Given the description of an element on the screen output the (x, y) to click on. 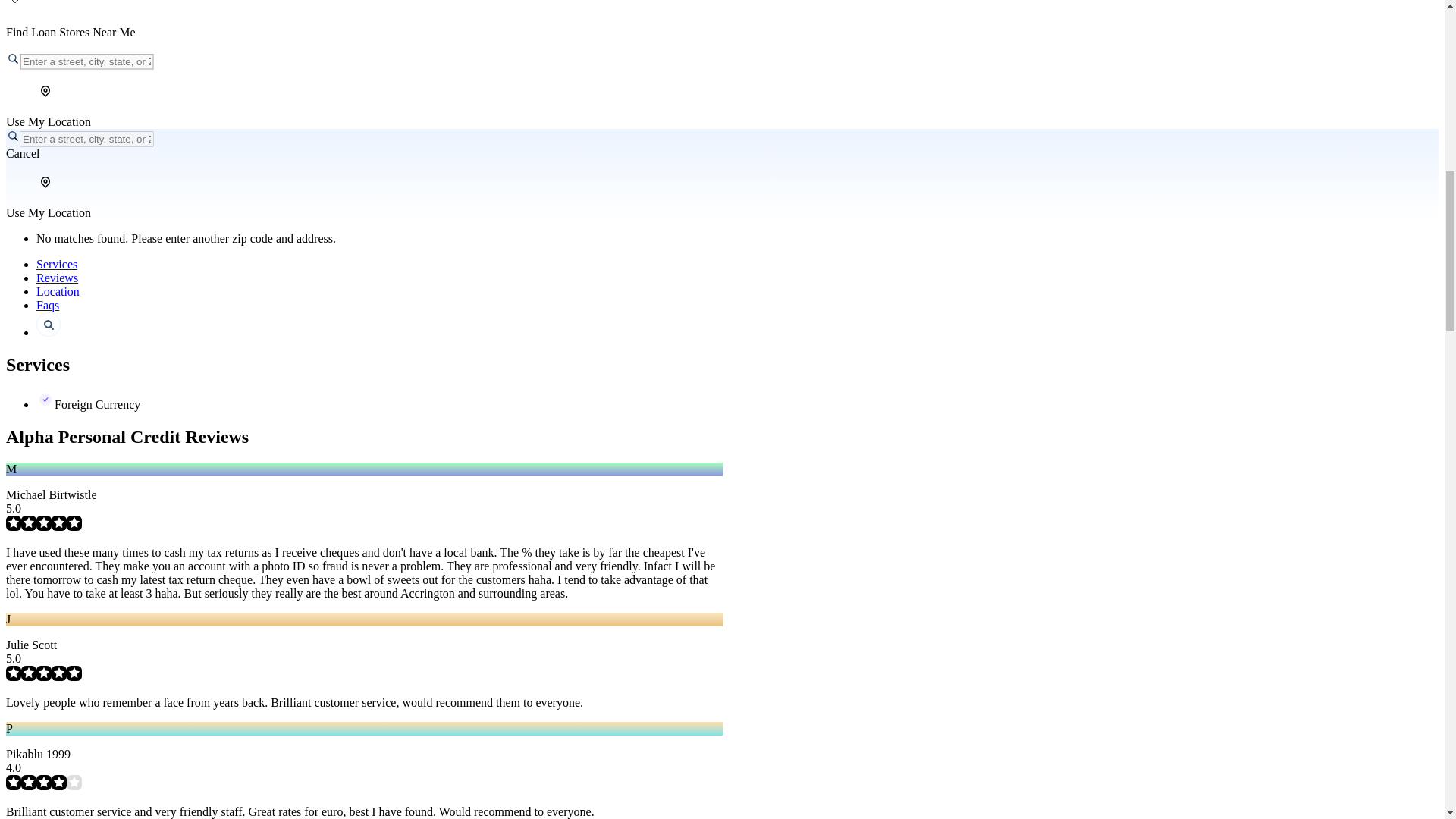
Reviews (57, 277)
Services (56, 264)
Faqs (47, 305)
Location (58, 291)
